Given the description of an element on the screen output the (x, y) to click on. 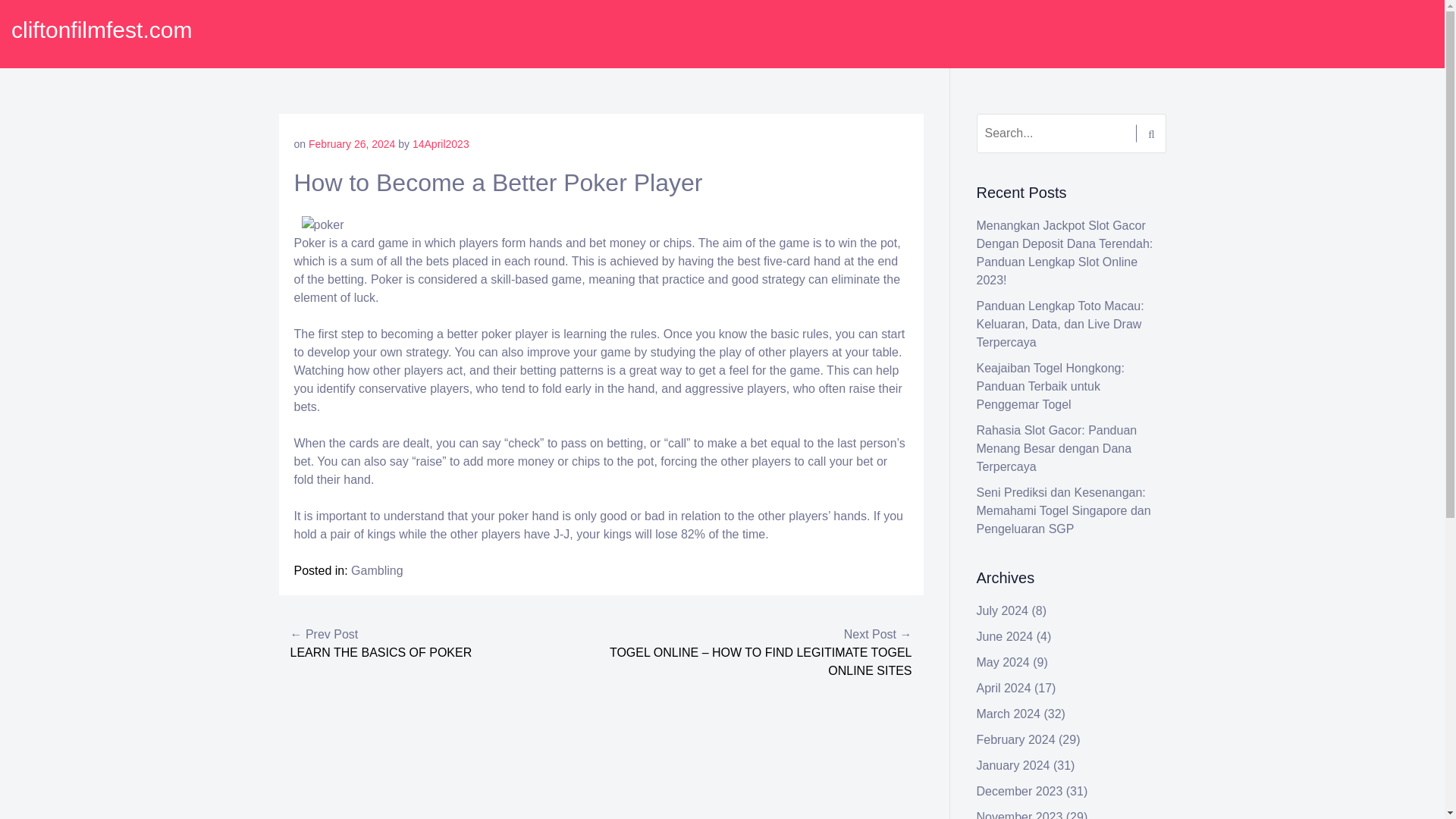
April 2024 (1003, 687)
July 2024 (1002, 610)
January 2024 (1012, 765)
May 2024 (1002, 662)
Gambling (376, 570)
December 2023 (1019, 790)
March 2024 (1008, 713)
cliftonfilmfest.com (101, 29)
14April2023 (440, 143)
February 2024 (1015, 739)
February 26, 2024 (351, 143)
